Given the description of an element on the screen output the (x, y) to click on. 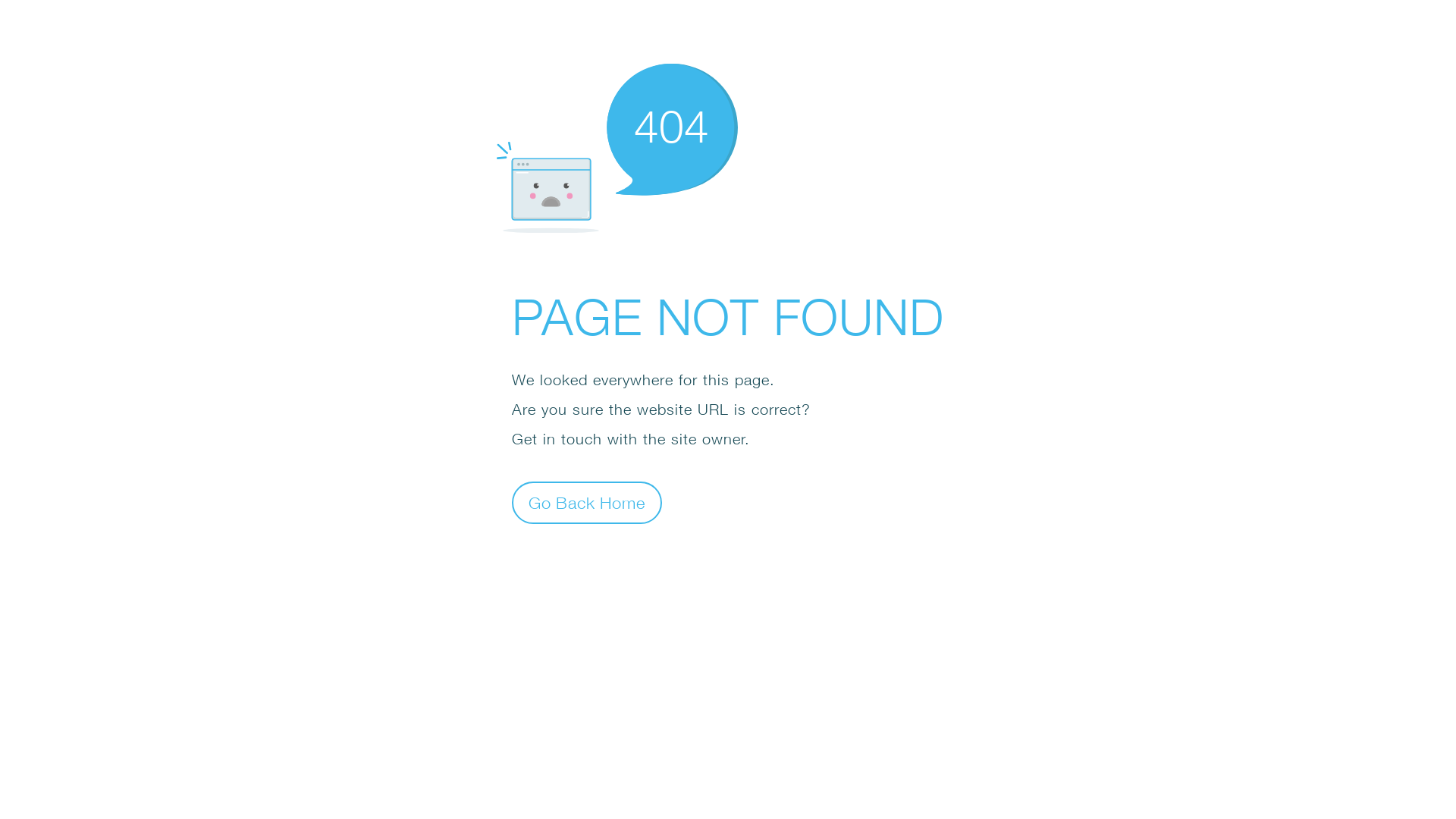
Go Back Home Element type: text (586, 502)
